Given the description of an element on the screen output the (x, y) to click on. 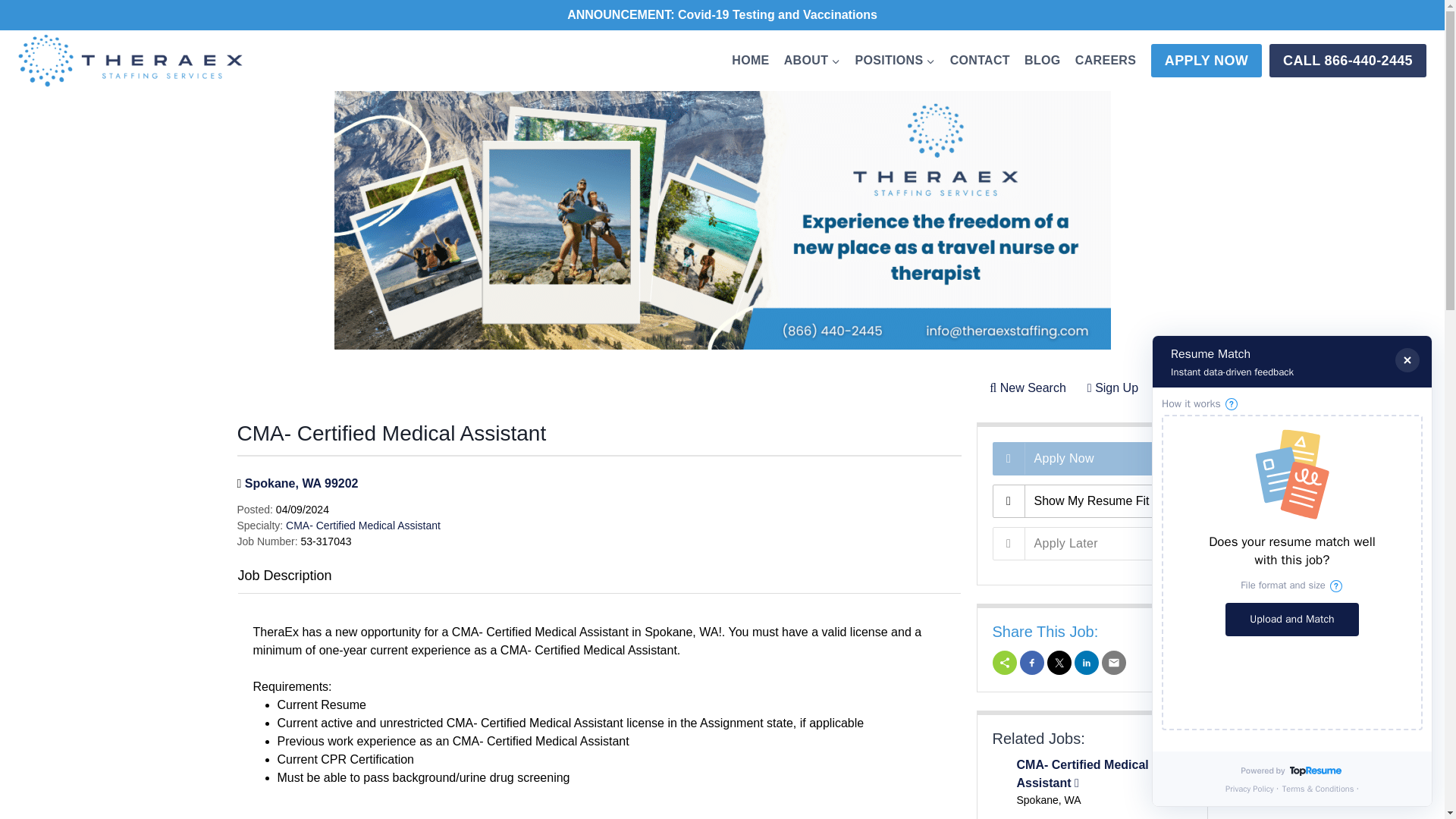
Match (1091, 500)
BLOG (1041, 59)
CALL 866-440-2445 (1347, 60)
Login (1177, 387)
ABOUT (811, 59)
Sign Up (1112, 387)
New Search (1027, 387)
POSITIONS (894, 59)
ANNOUNCEMENT: Covid-19 Testing and Vaccinations (722, 14)
APPLY NOW (1206, 60)
HOME (750, 59)
CMA- Certified Medical Assistant (363, 525)
CAREERS (1104, 59)
Spokane, WA 99202 (301, 482)
CONTACT (979, 59)
